Given the description of an element on the screen output the (x, y) to click on. 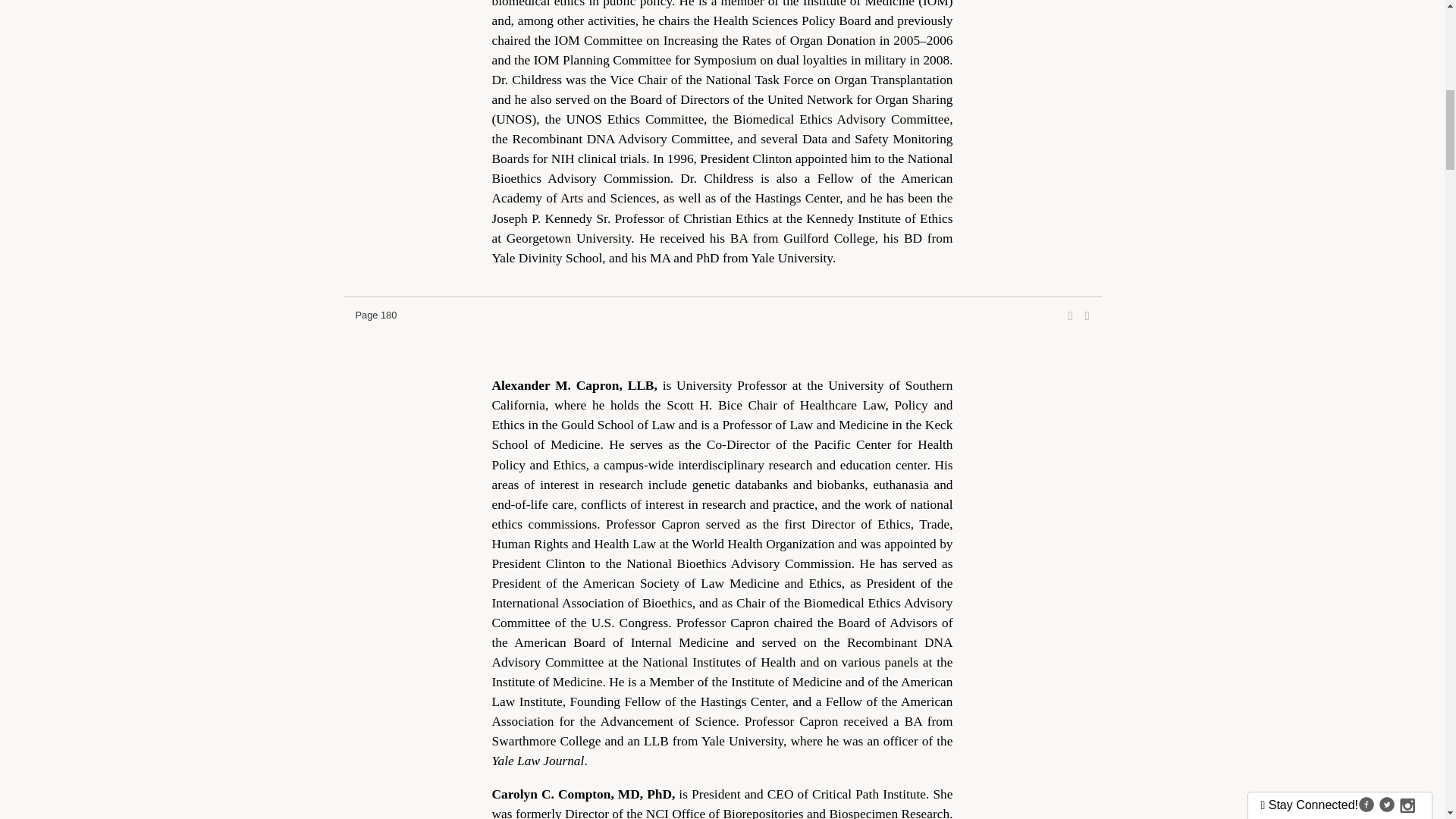
Cite this page (1086, 315)
Share this page (1070, 315)
